Given the description of an element on the screen output the (x, y) to click on. 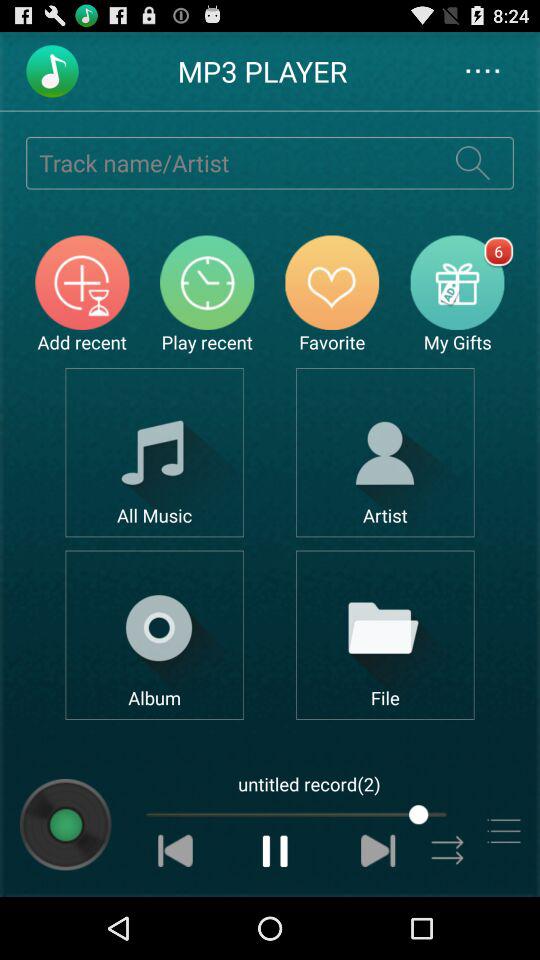
click here (384, 452)
